Given the description of an element on the screen output the (x, y) to click on. 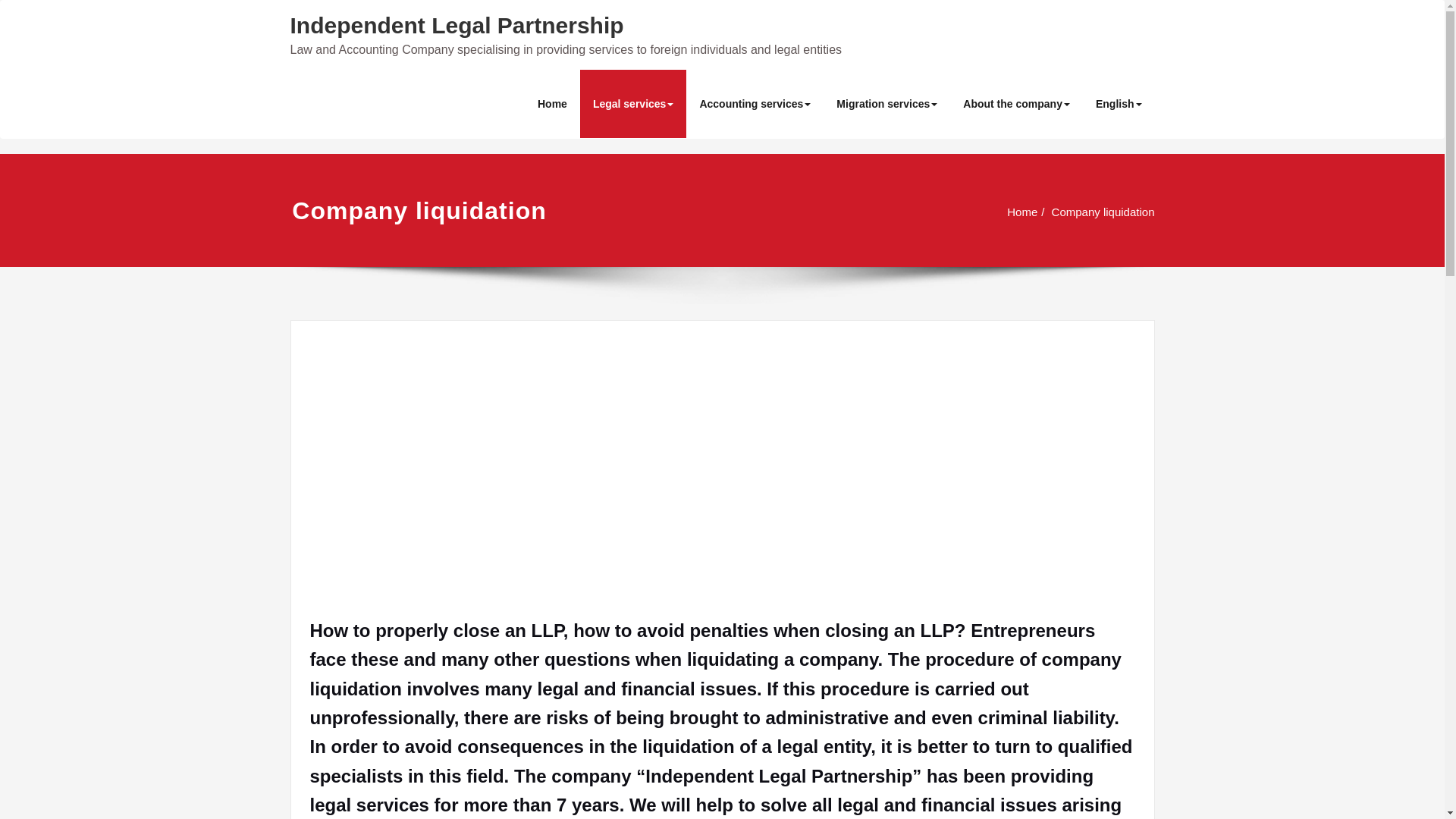
Migration services (887, 103)
English (1118, 103)
Legal services (633, 103)
Home (1021, 211)
Accounting services (754, 103)
Company liquidation (1102, 211)
Independent Legal Partnership (456, 25)
About the company (1016, 103)
